Given the description of an element on the screen output the (x, y) to click on. 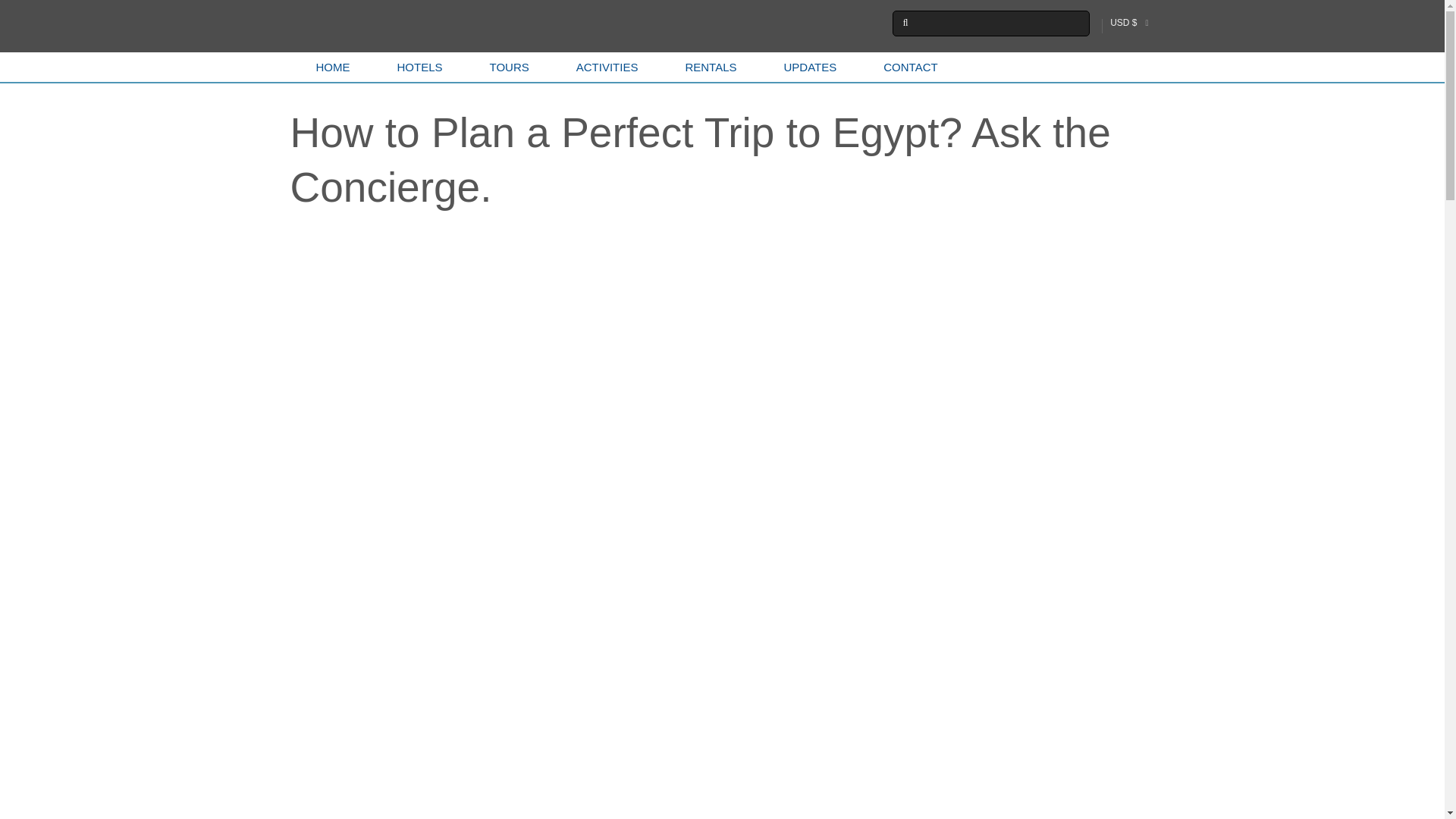
RENTALS (707, 66)
TOURS (506, 66)
CONTACT (906, 66)
UPDATES (807, 66)
ACTIVITIES (604, 66)
HOTELS (416, 66)
HOME (328, 66)
